Given the description of an element on the screen output the (x, y) to click on. 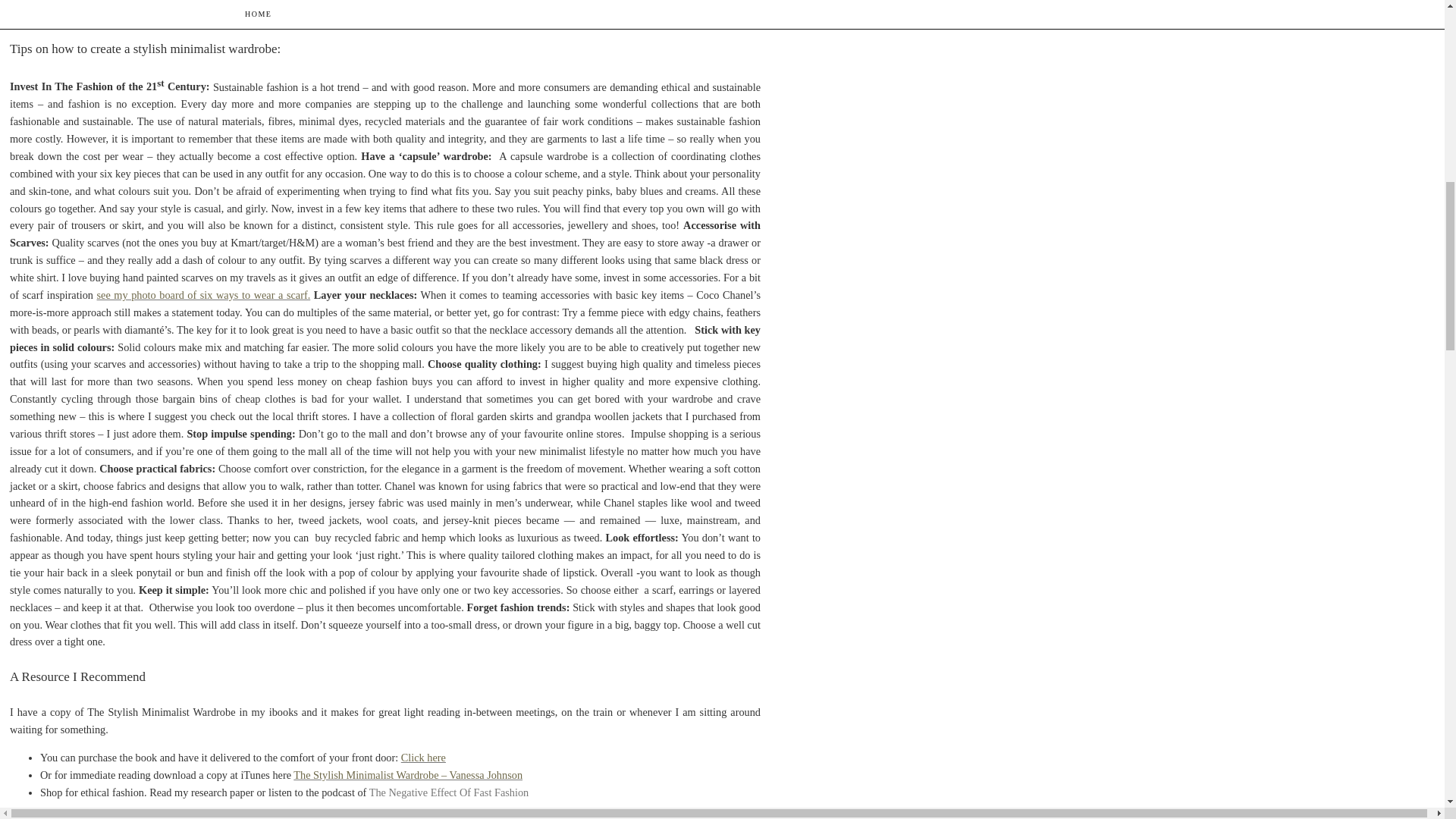
Click here (423, 757)
see my photo board of six ways to wear a scarf. (204, 295)
The Negative Effect Of Fast Fashion (449, 792)
